Given the description of an element on the screen output the (x, y) to click on. 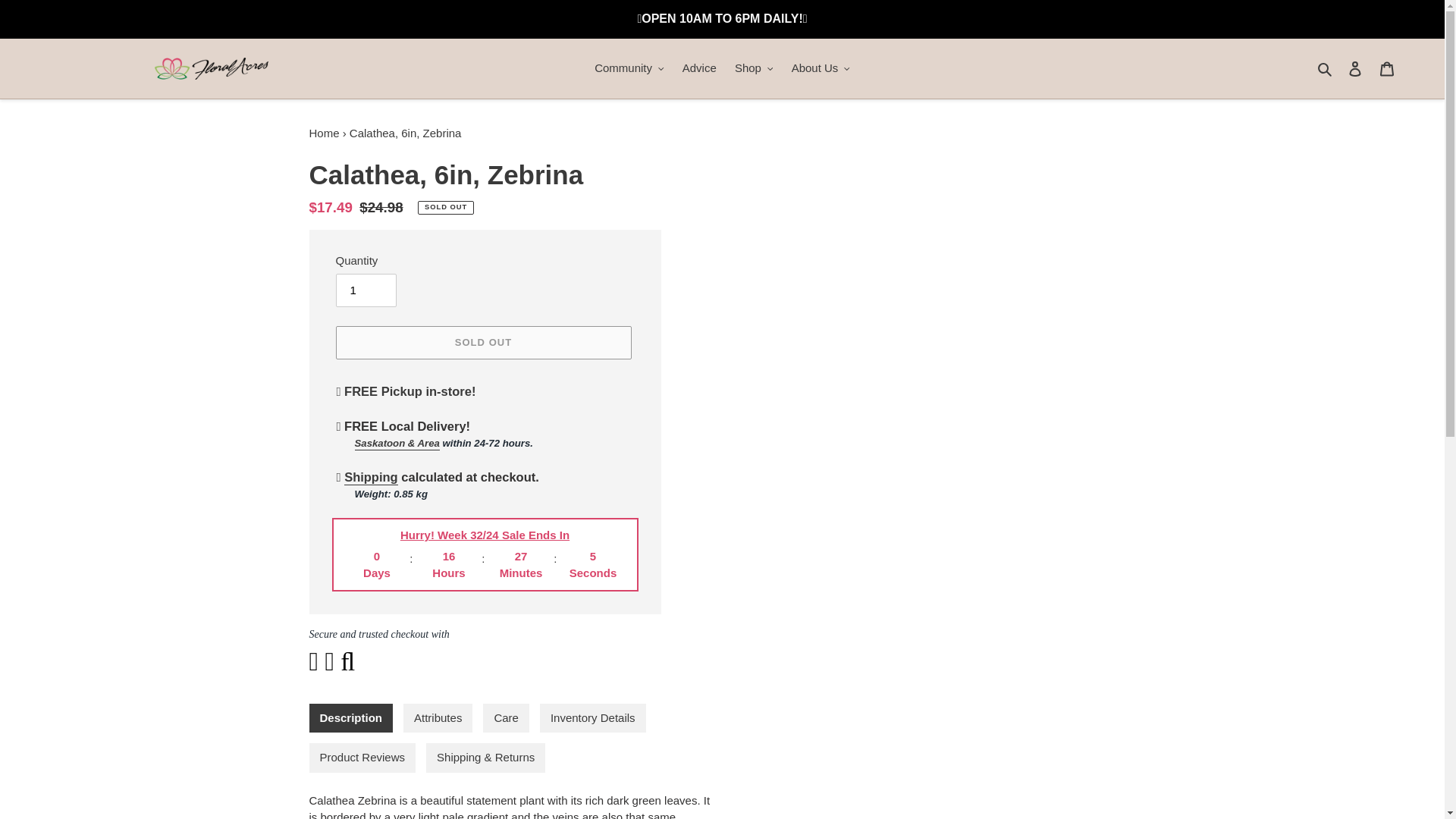
1 (365, 290)
Home (323, 132)
Advice (699, 68)
Shop (753, 68)
Community (628, 68)
